Given the description of an element on the screen output the (x, y) to click on. 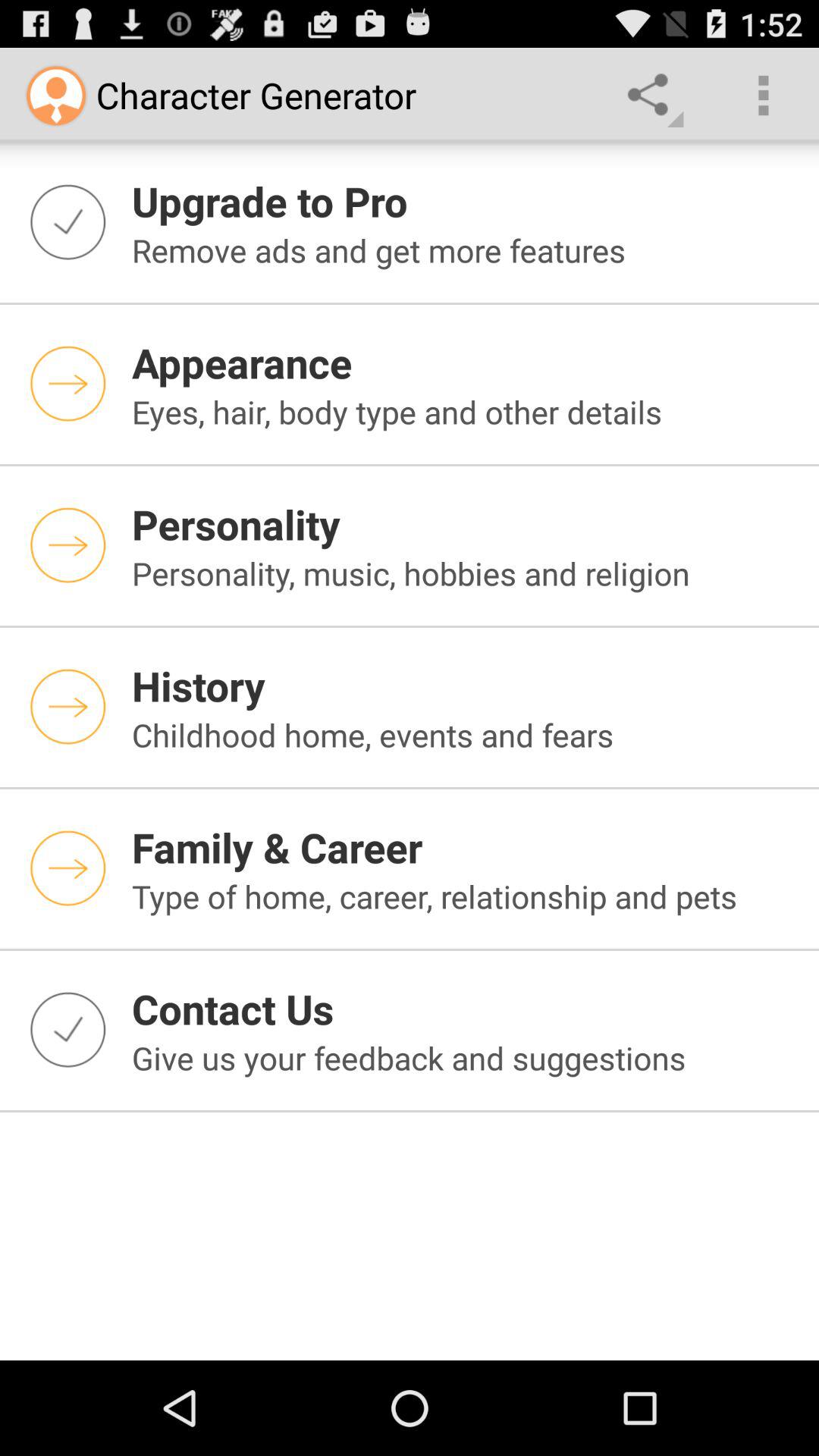
press app above the childhood home events icon (465, 685)
